Given the description of an element on the screen output the (x, y) to click on. 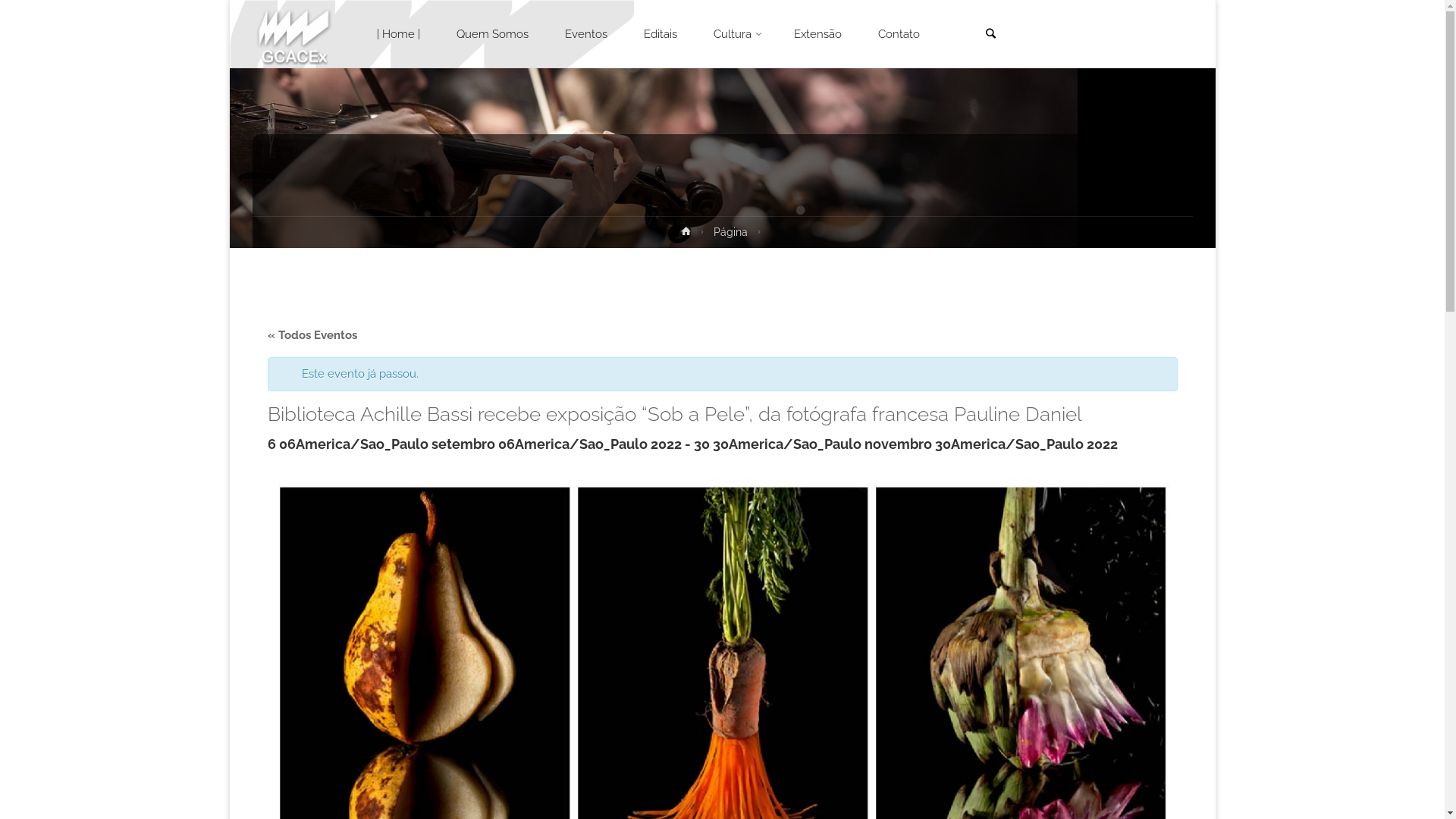
Cultura Element type: text (735, 34)
Editais Element type: text (660, 34)
| Home | Element type: text (398, 34)
Search Element type: text (991, 34)
Home Element type: text (685, 233)
Quem Somos Element type: text (492, 34)
Contato Element type: text (898, 34)
Eventos Element type: text (585, 34)
